Given the description of an element on the screen output the (x, y) to click on. 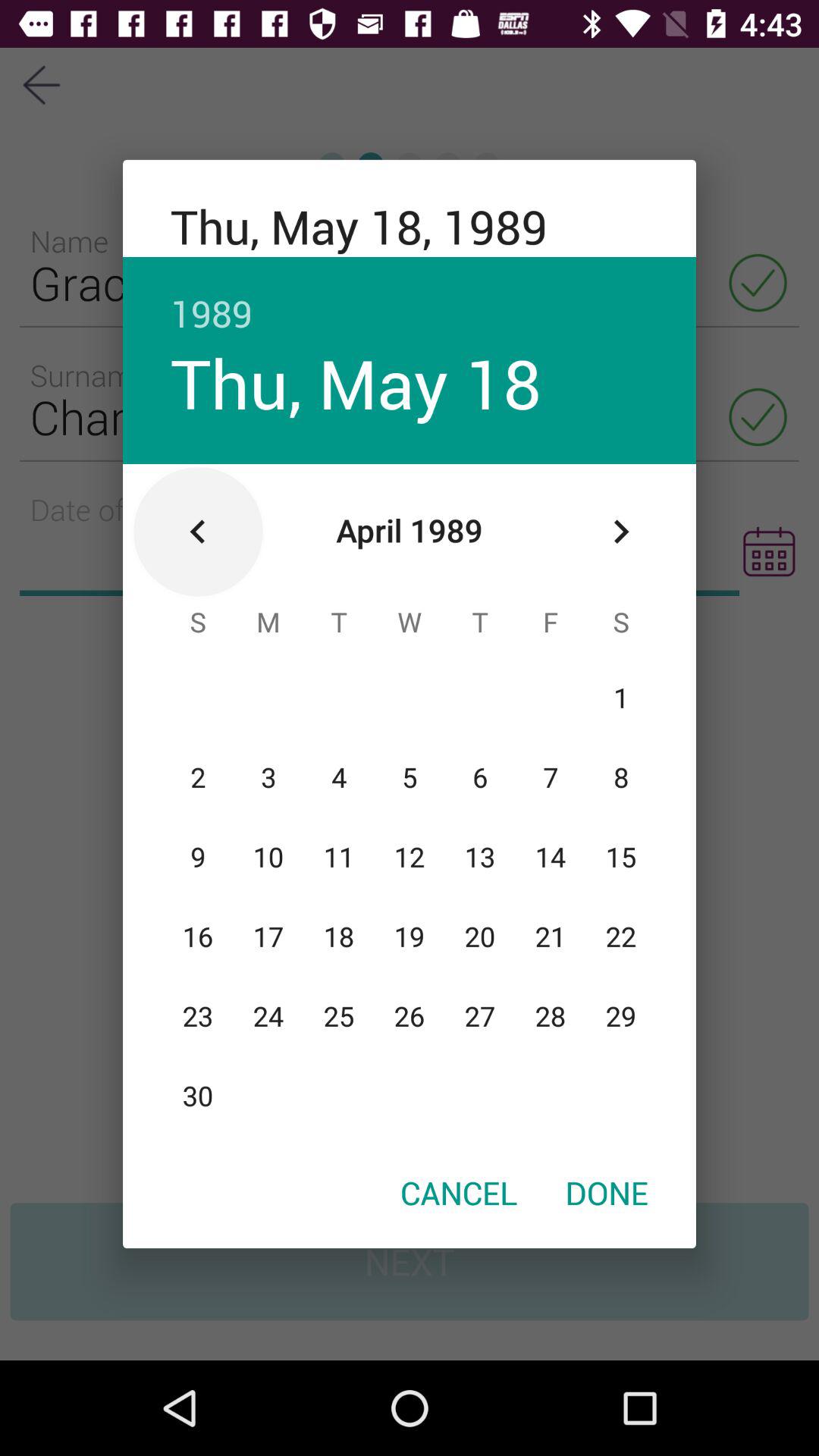
scroll until done icon (606, 1192)
